Given the description of an element on the screen output the (x, y) to click on. 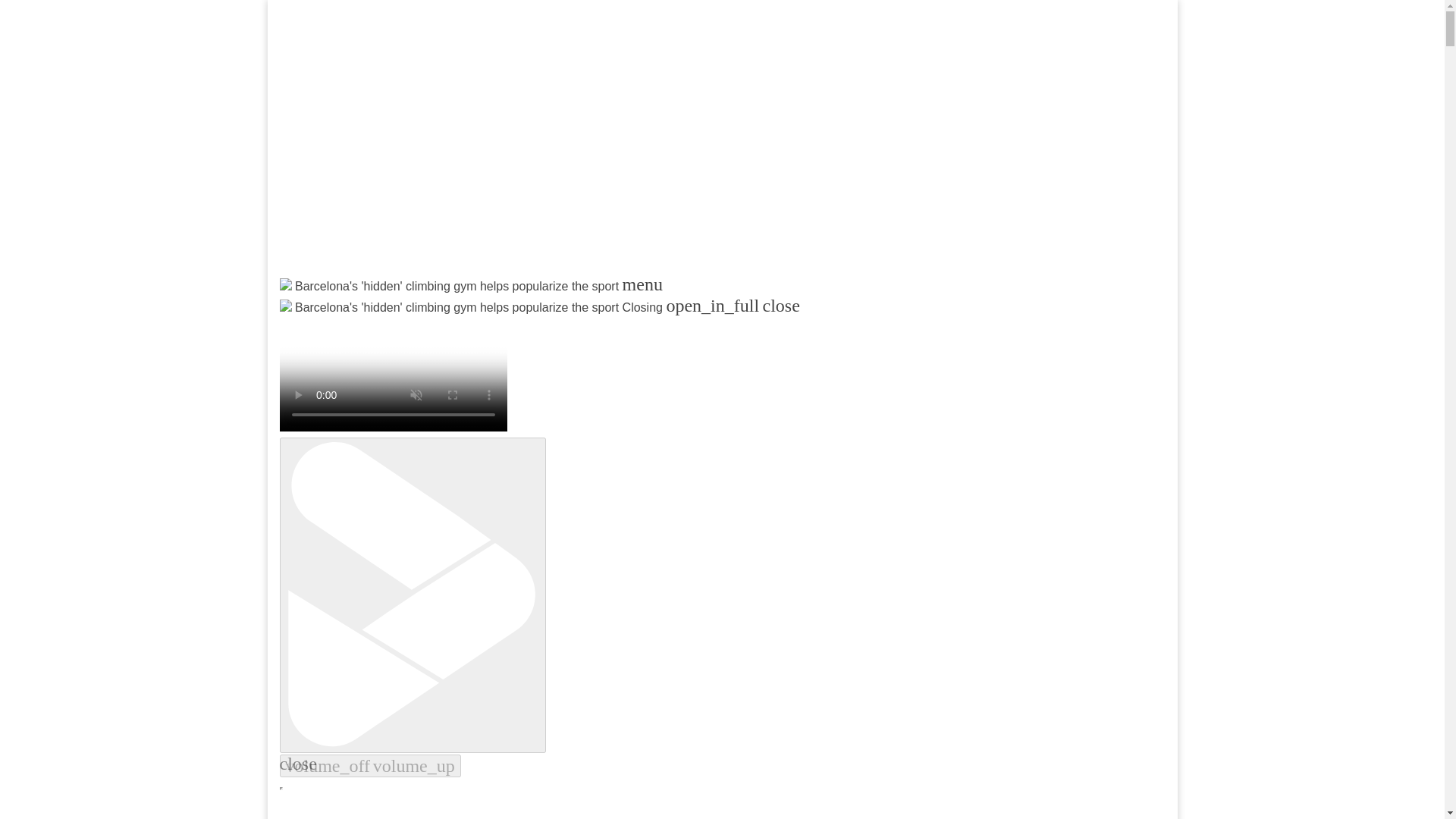
Skope Entertainment Inc (462, 323)
Skope Entertainment Inc (462, 323)
YouTube video player (478, 149)
